Given the description of an element on the screen output the (x, y) to click on. 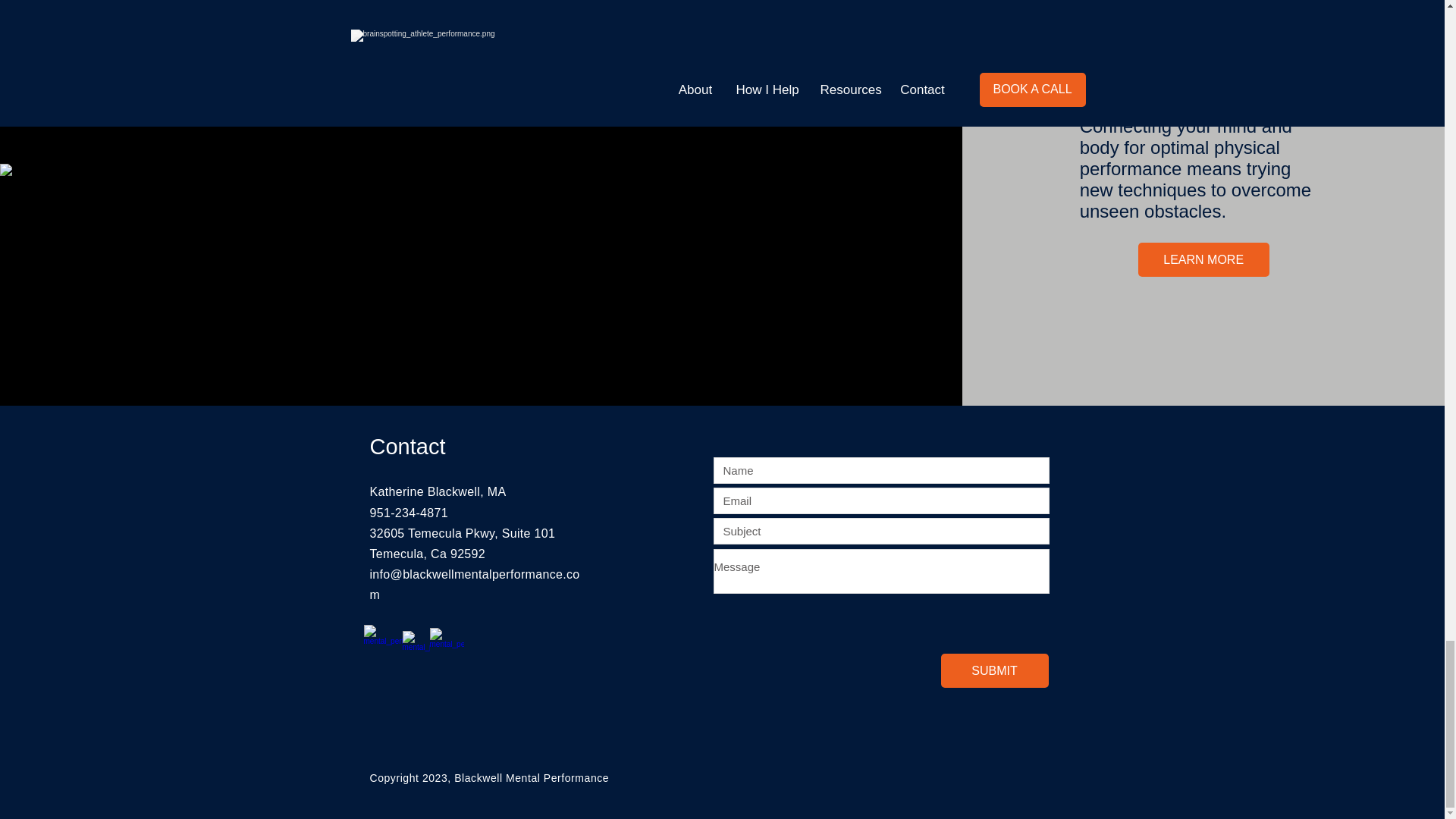
LEARN MORE (1203, 259)
SUBMIT (994, 670)
